Given the description of an element on the screen output the (x, y) to click on. 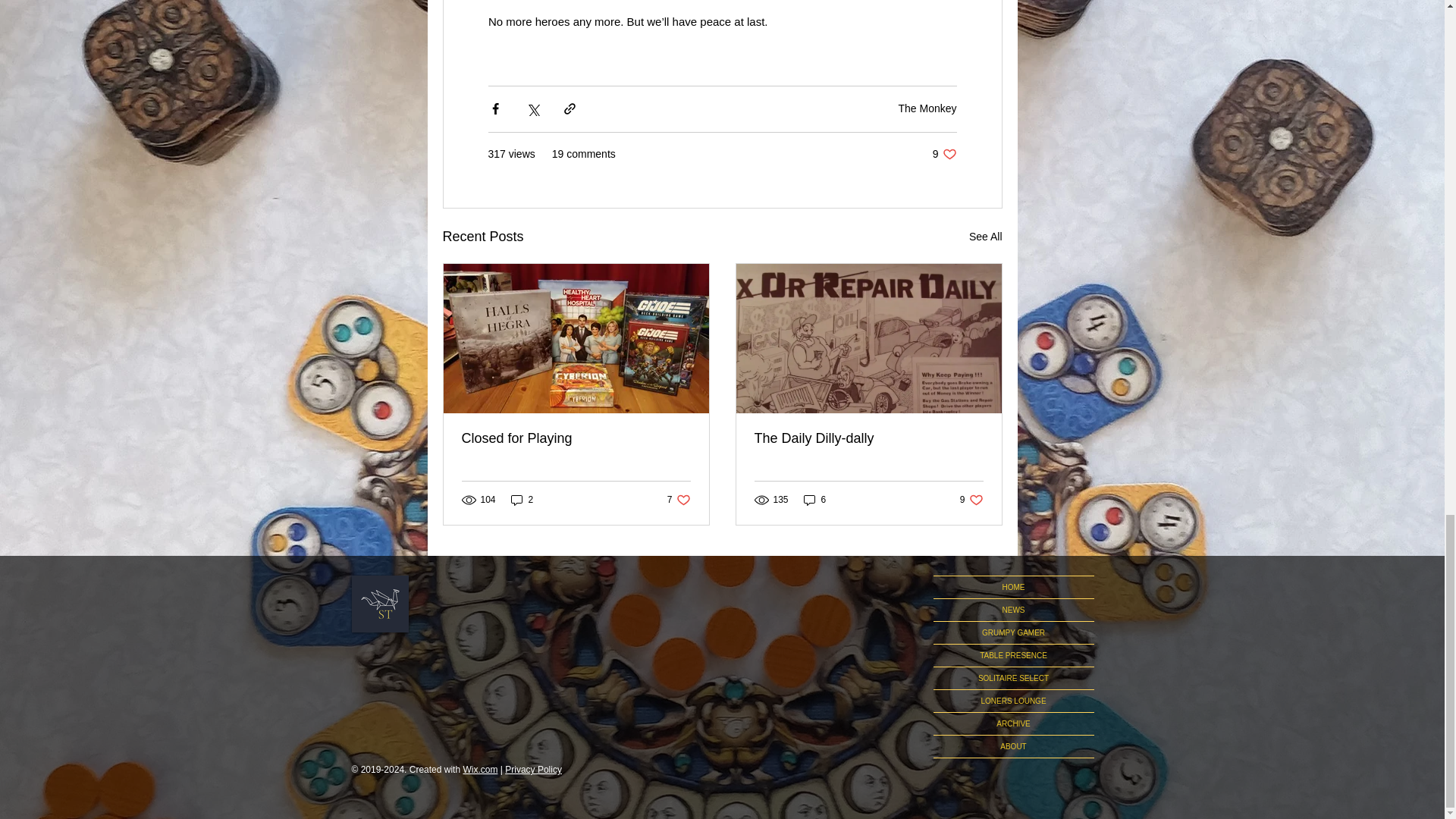
Solitaire Times - solo board game news (380, 603)
Closed for Playing (944, 154)
The Monkey (575, 438)
2 (927, 108)
See All (522, 499)
